Given the description of an element on the screen output the (x, y) to click on. 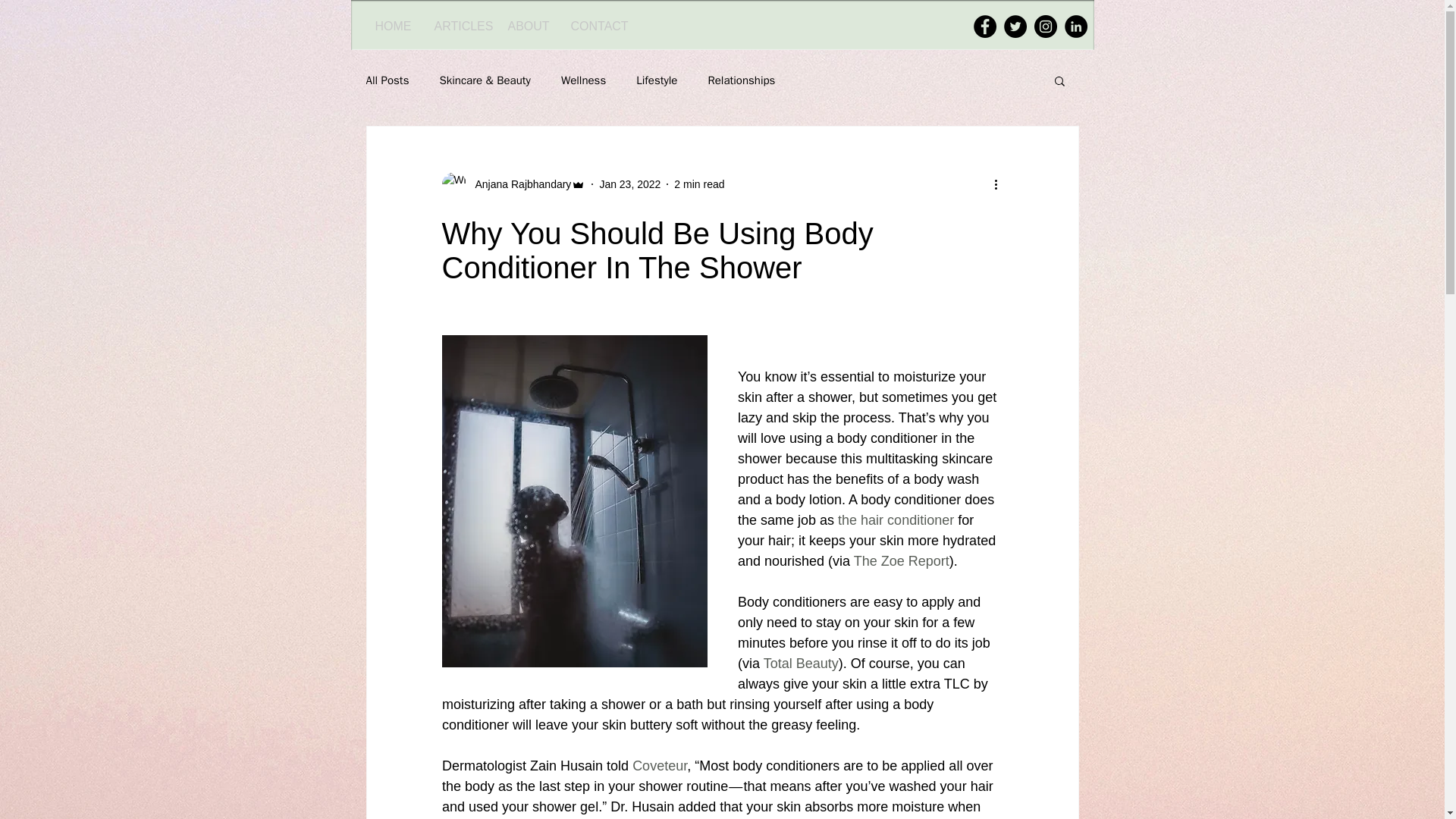
HOME (393, 26)
Relationships (740, 79)
Jan 23, 2022 (629, 183)
The Zoe Report (901, 560)
Total Beauty (800, 663)
ABOUT (527, 26)
All Posts (387, 79)
Anjana Rajbhandary (517, 183)
Coveteur (659, 765)
CONTACT (599, 26)
